Given the description of an element on the screen output the (x, y) to click on. 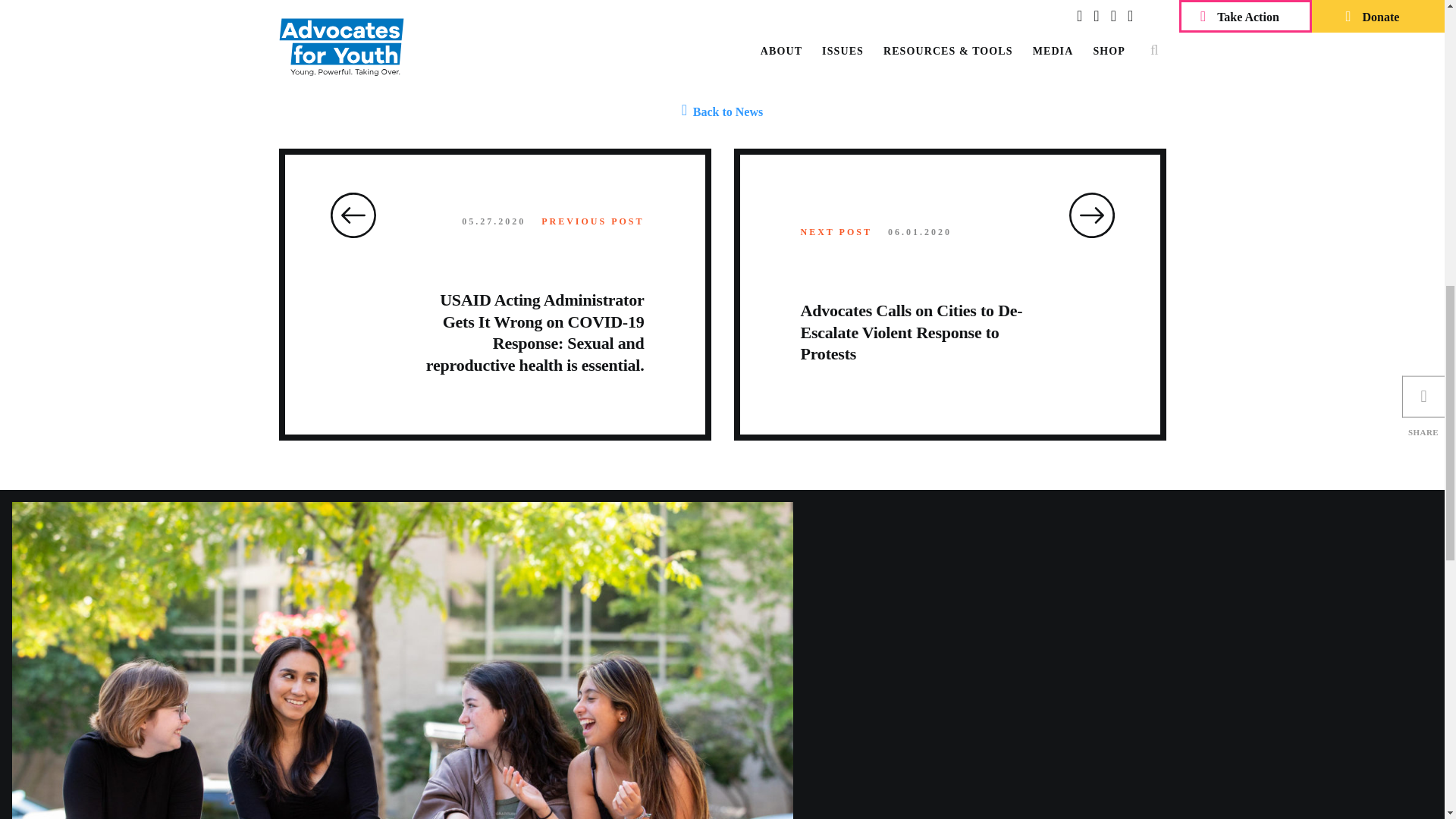
arrow-grid (1091, 215)
arrow-grid (352, 215)
